Given the description of an element on the screen output the (x, y) to click on. 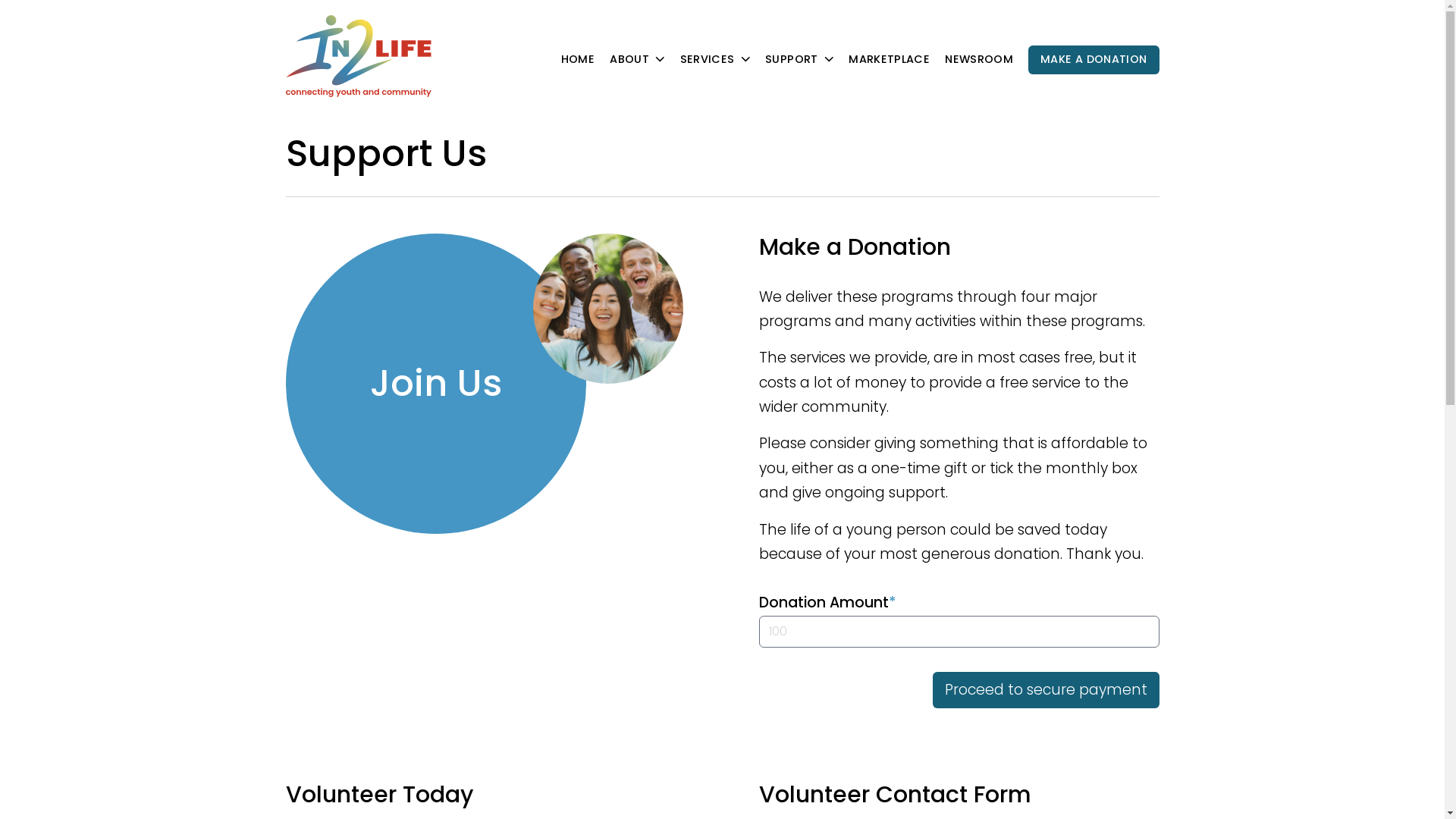
ABOUT Element type: text (636, 59)
Proceed to secure payment Element type: text (1045, 689)
SERVICES Element type: text (714, 59)
NEWSROOM Element type: text (978, 59)
SUPPORT Element type: text (799, 59)
HOME Element type: text (577, 59)
MAKE A DONATION Element type: text (1093, 59)
MARKETPLACE Element type: text (888, 59)
